Given the description of an element on the screen output the (x, y) to click on. 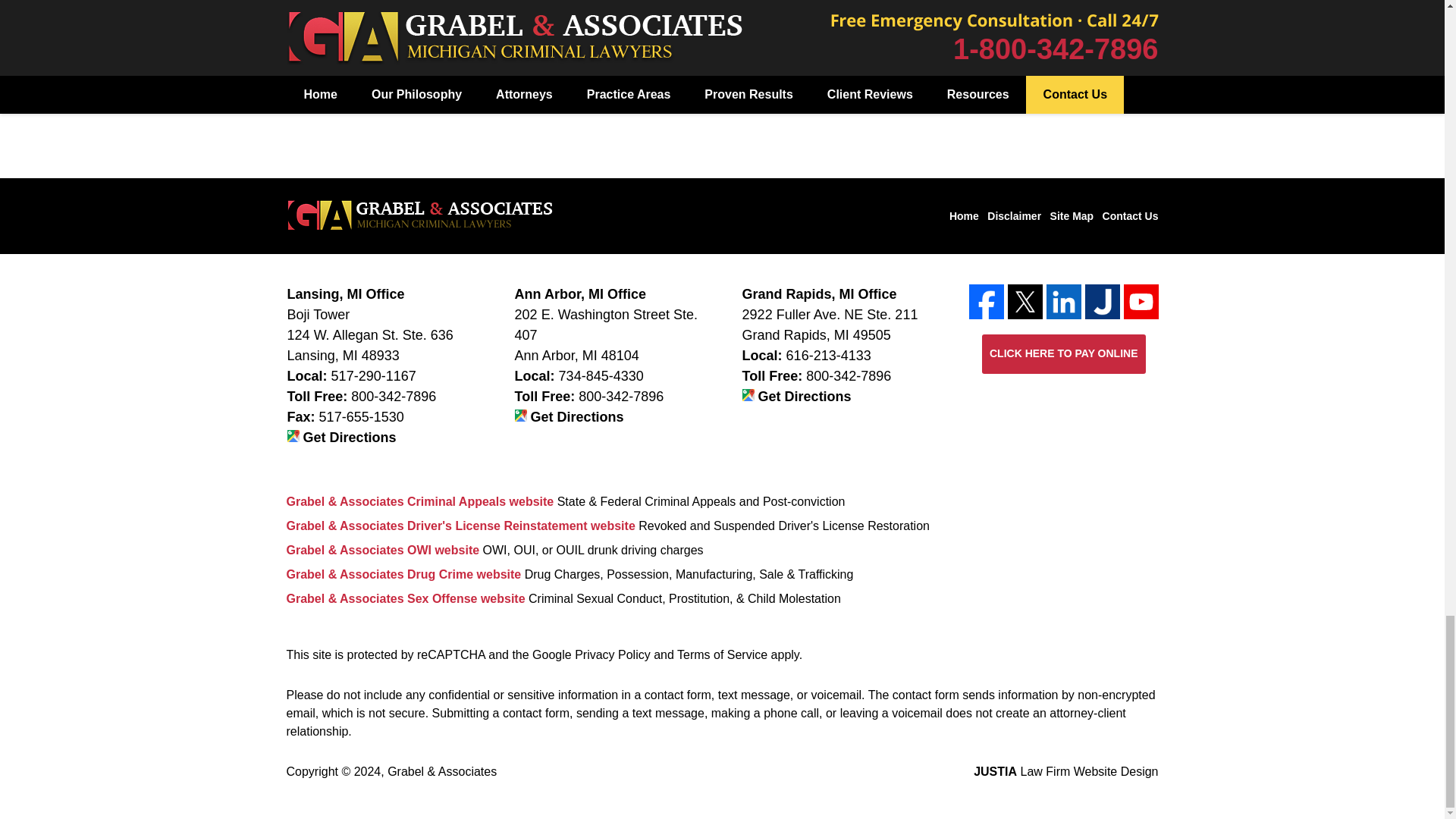
Twitter (1024, 301)
YouTube (1141, 301)
Facebook (986, 301)
Justia (1101, 301)
LinkedIn (1063, 301)
